Given the description of an element on the screen output the (x, y) to click on. 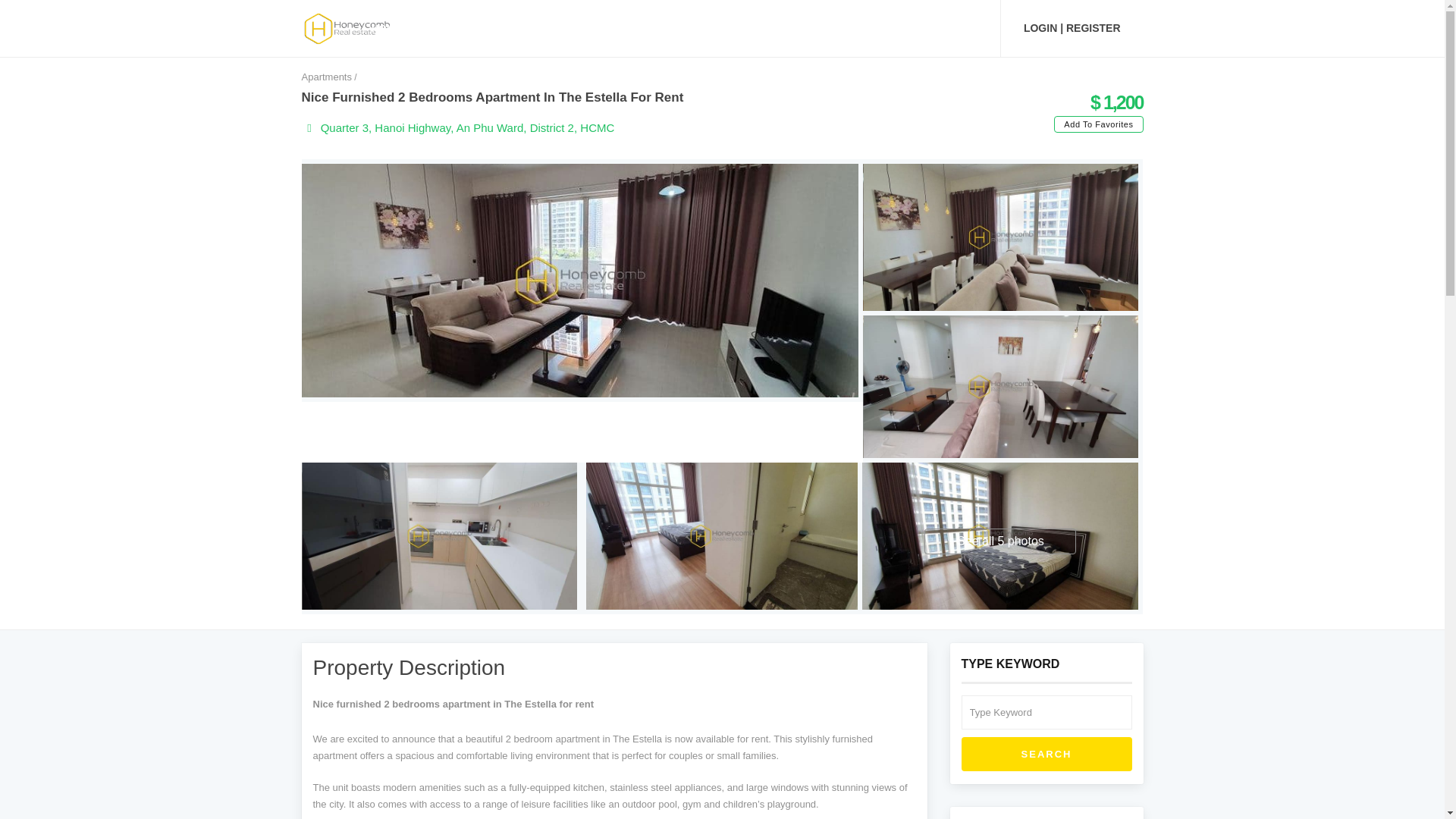
VILLA (540, 28)
TESTIMONIALS (853, 28)
SERVICED APARTMENT (643, 28)
SEARCH (1046, 754)
APARTMENT (463, 28)
ABOUT US (759, 28)
Discover a place you will love in HCMC (347, 27)
Apartments (326, 76)
CONTACT (946, 28)
HOME (386, 28)
